Given the description of an element on the screen output the (x, y) to click on. 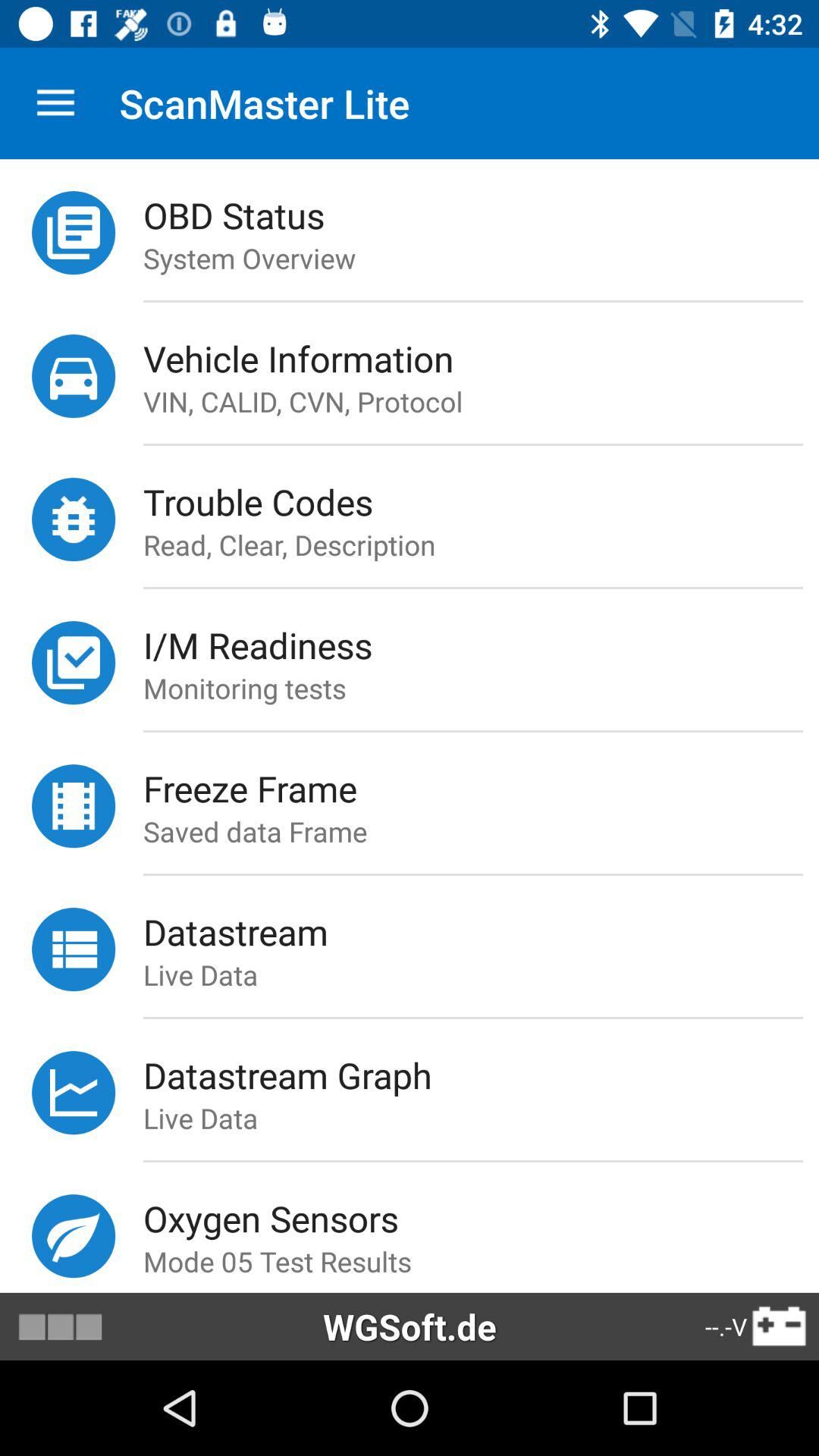
turn off the app next to the scanmaster lite (55, 103)
